Given the description of an element on the screen output the (x, y) to click on. 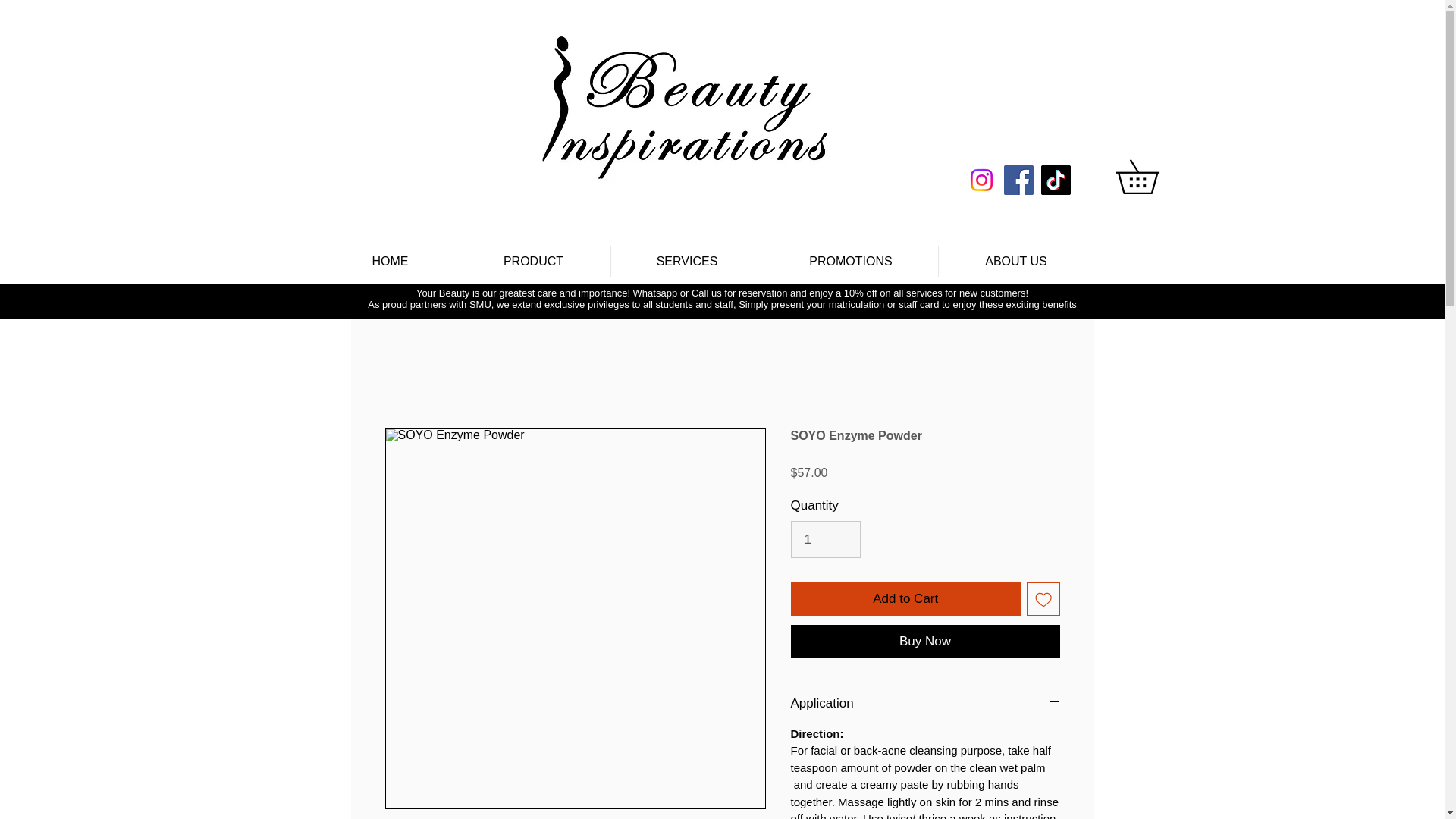
PROMOTIONS (849, 261)
Application (924, 703)
PRODUCT (533, 261)
1 (825, 538)
HOME (390, 261)
SERVICES (686, 261)
ABOUT US (1015, 261)
Add to Cart (905, 598)
Buy Now (924, 641)
